Given the description of an element on the screen output the (x, y) to click on. 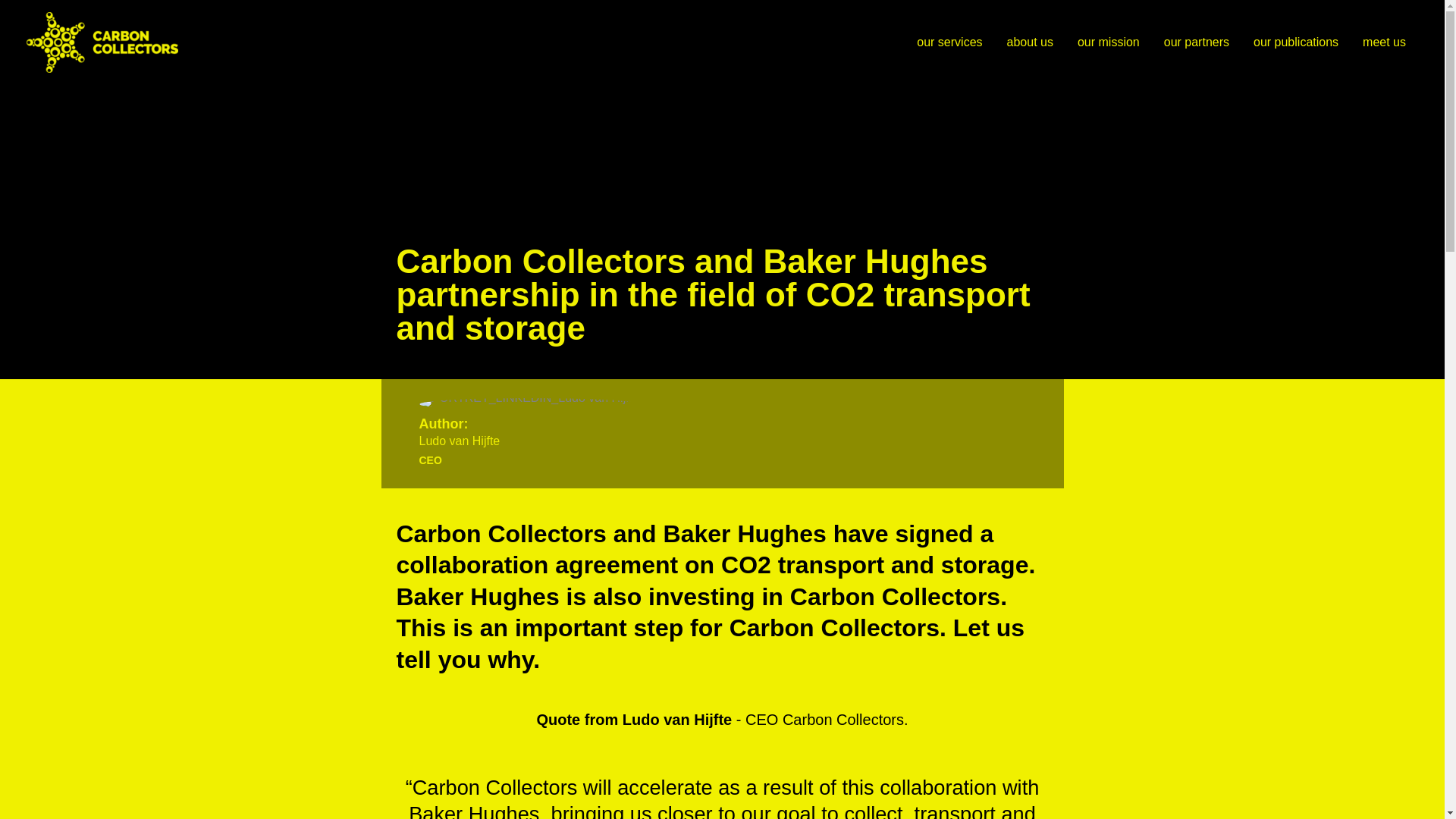
our partners (1196, 42)
our mission (1108, 42)
our publications (1296, 42)
our services (949, 42)
